Given the description of an element on the screen output the (x, y) to click on. 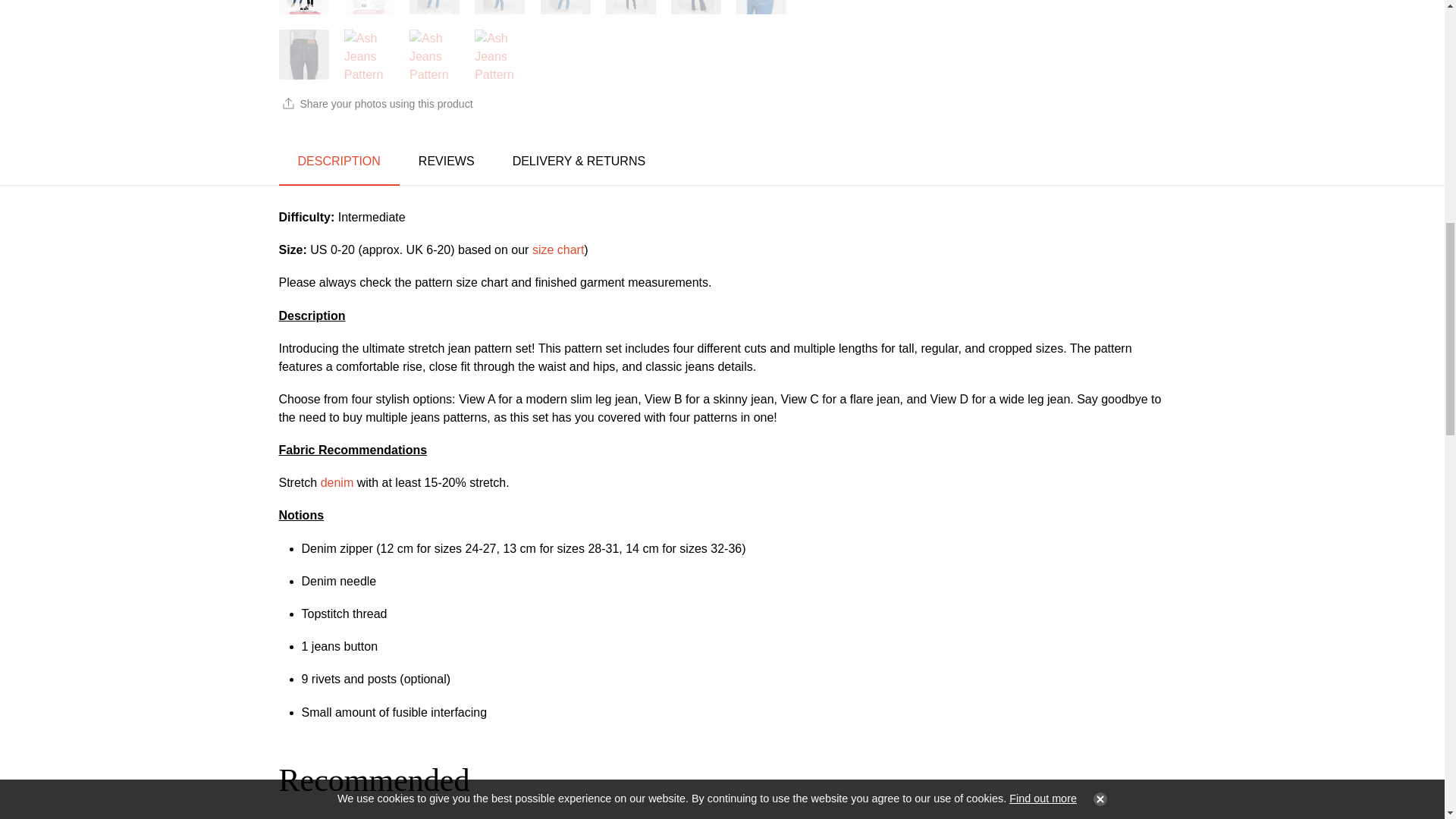
Ash Jeans Pattern By Megan Nielsen MNP2211 1 (434, 10)
Ash Jeans Pattern By Megan Nielsen MNP2211 5 (696, 10)
Ash Jeans Pattern By Megan Nielsen MNP2211 3 (564, 10)
Ash Jeans Pattern By Megan Nielsen MNP2211 4 (630, 10)
Ash Jeans Pattern By Megan Nielsen MNP2211 2 (499, 10)
Ash Jeans Pattern By Megan Nielsen MNP2211 11 (368, 10)
Ash Jeans Pattern By Megan Nielsen MNP2211 Cover (303, 10)
Ash Jeans Pattern By Megan Nielsen MNP2211 6 (761, 10)
